Given the description of an element on the screen output the (x, y) to click on. 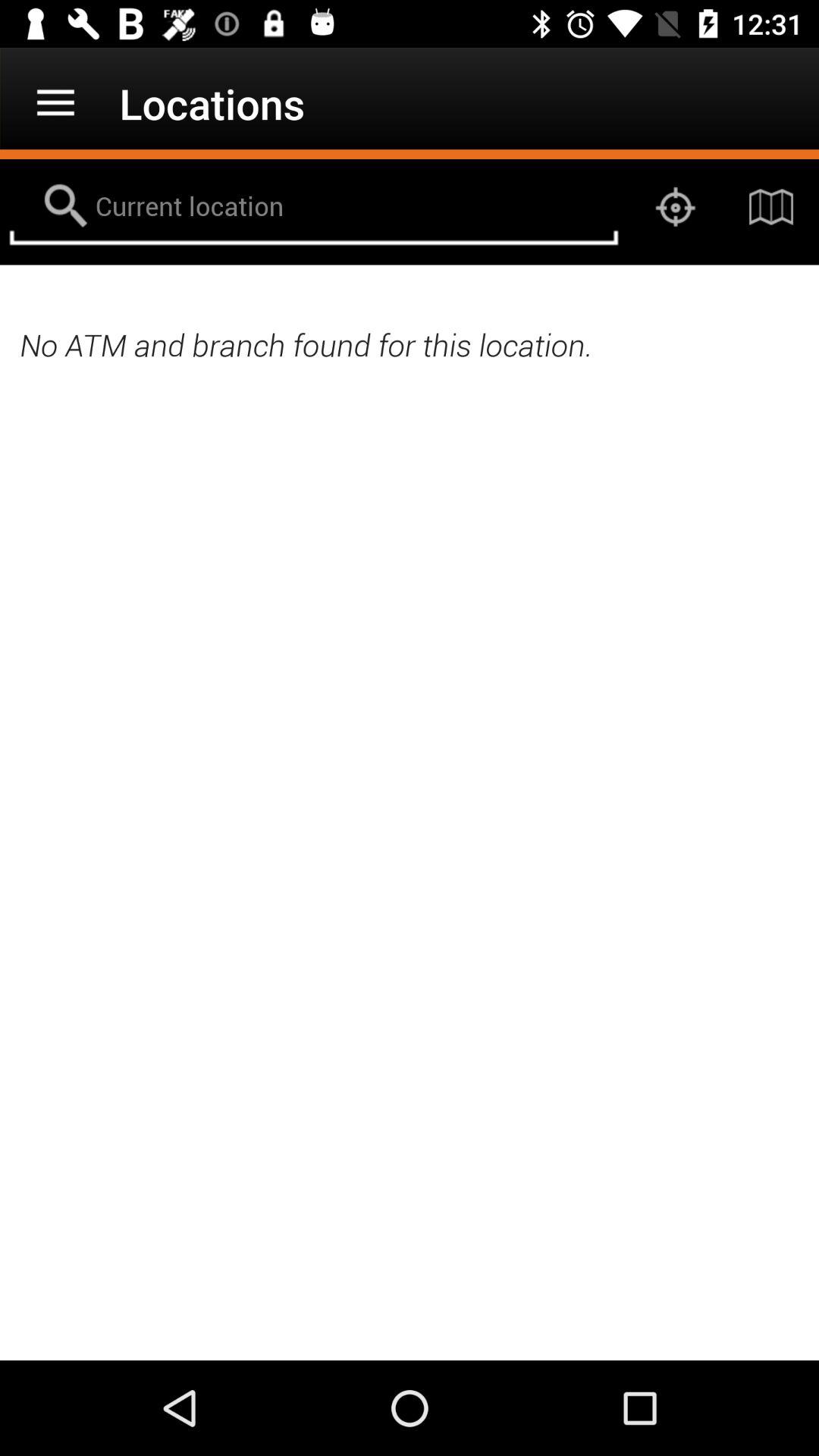
choose item above no atm and icon (313, 206)
